Given the description of an element on the screen output the (x, y) to click on. 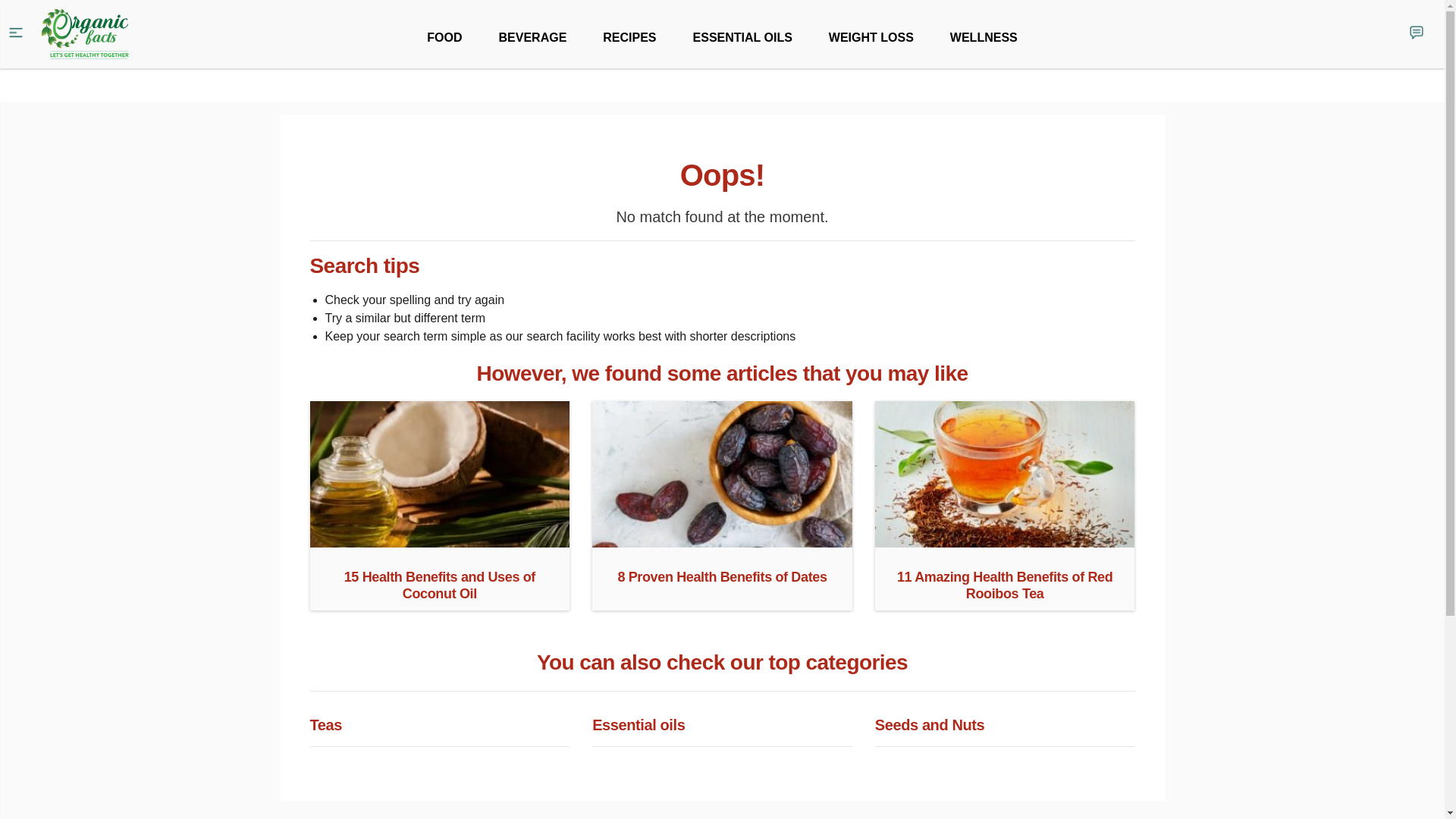
11 Amazing Health Benefits of Red Rooibos Tea (1005, 541)
Organic Facts (85, 34)
8 Proven Health Benefits of Dates (721, 541)
15 Health Benefits and Uses of Coconut Oil (438, 541)
